Given the description of an element on the screen output the (x, y) to click on. 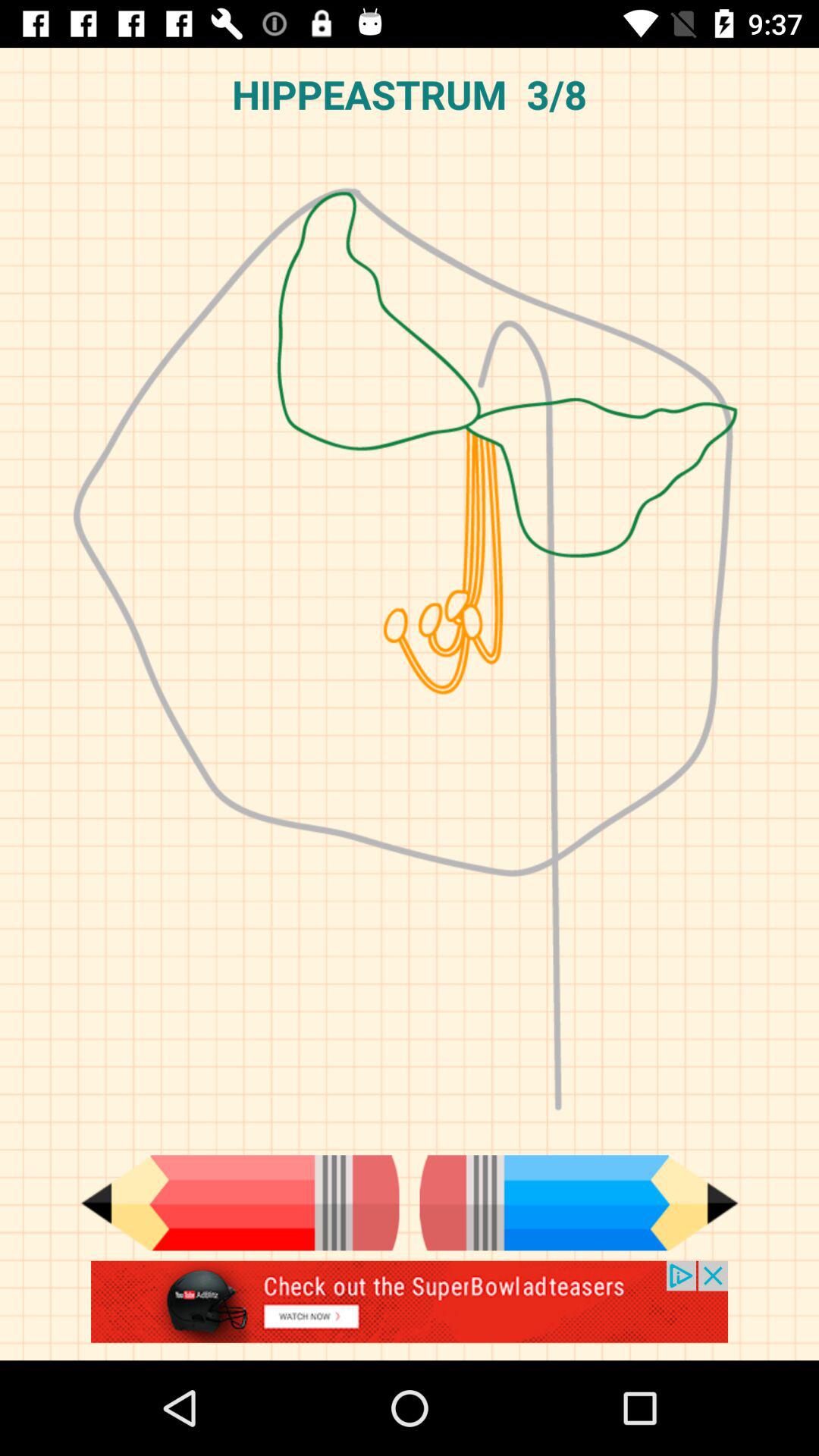
go back a page (239, 1202)
